Given the description of an element on the screen output the (x, y) to click on. 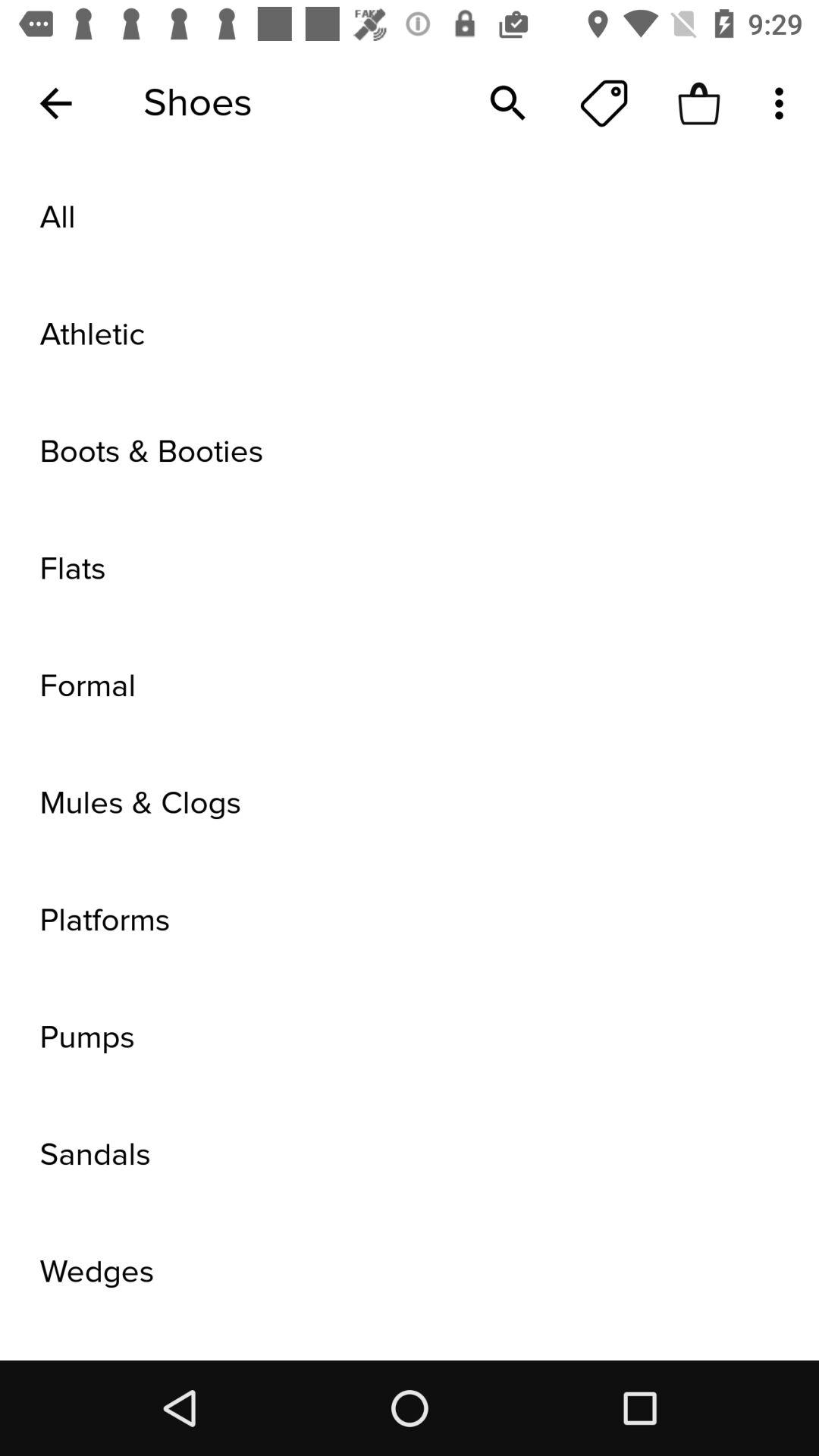
go to previous page (55, 103)
